Given the description of an element on the screen output the (x, y) to click on. 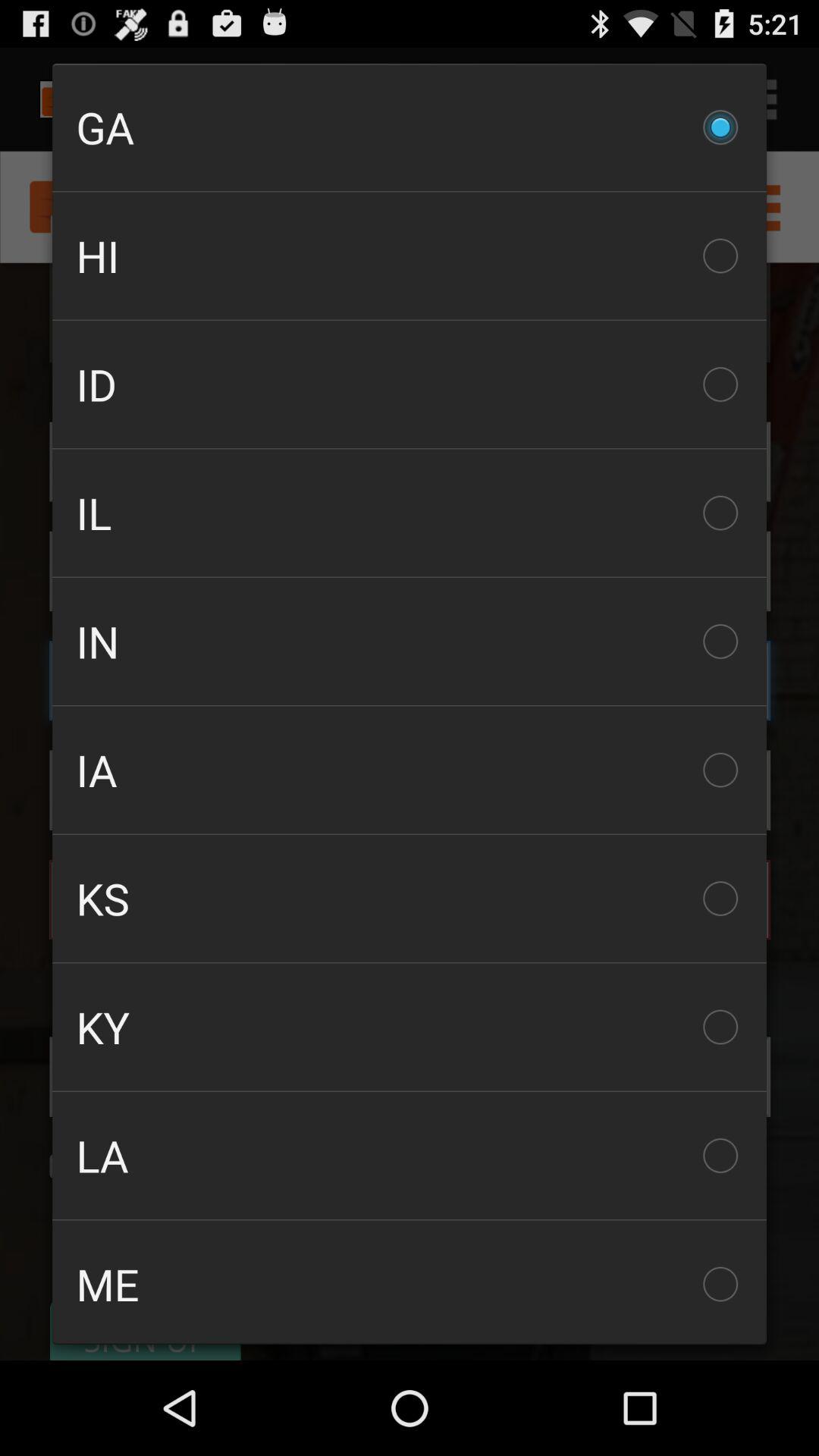
swipe until ks (409, 898)
